Given the description of an element on the screen output the (x, y) to click on. 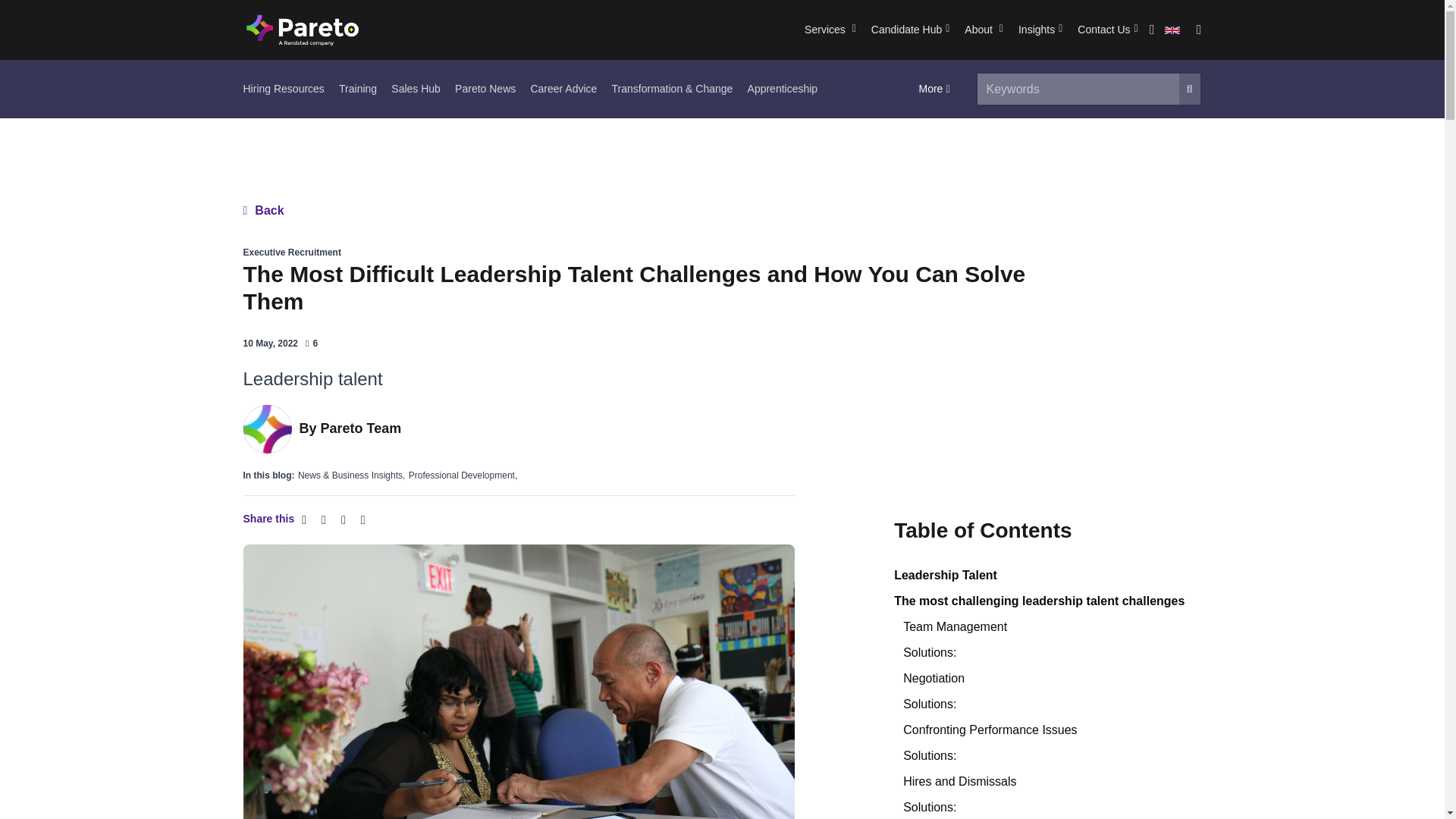
Services (829, 29)
About (983, 29)
Candidate Hub (910, 29)
